Given the description of an element on the screen output the (x, y) to click on. 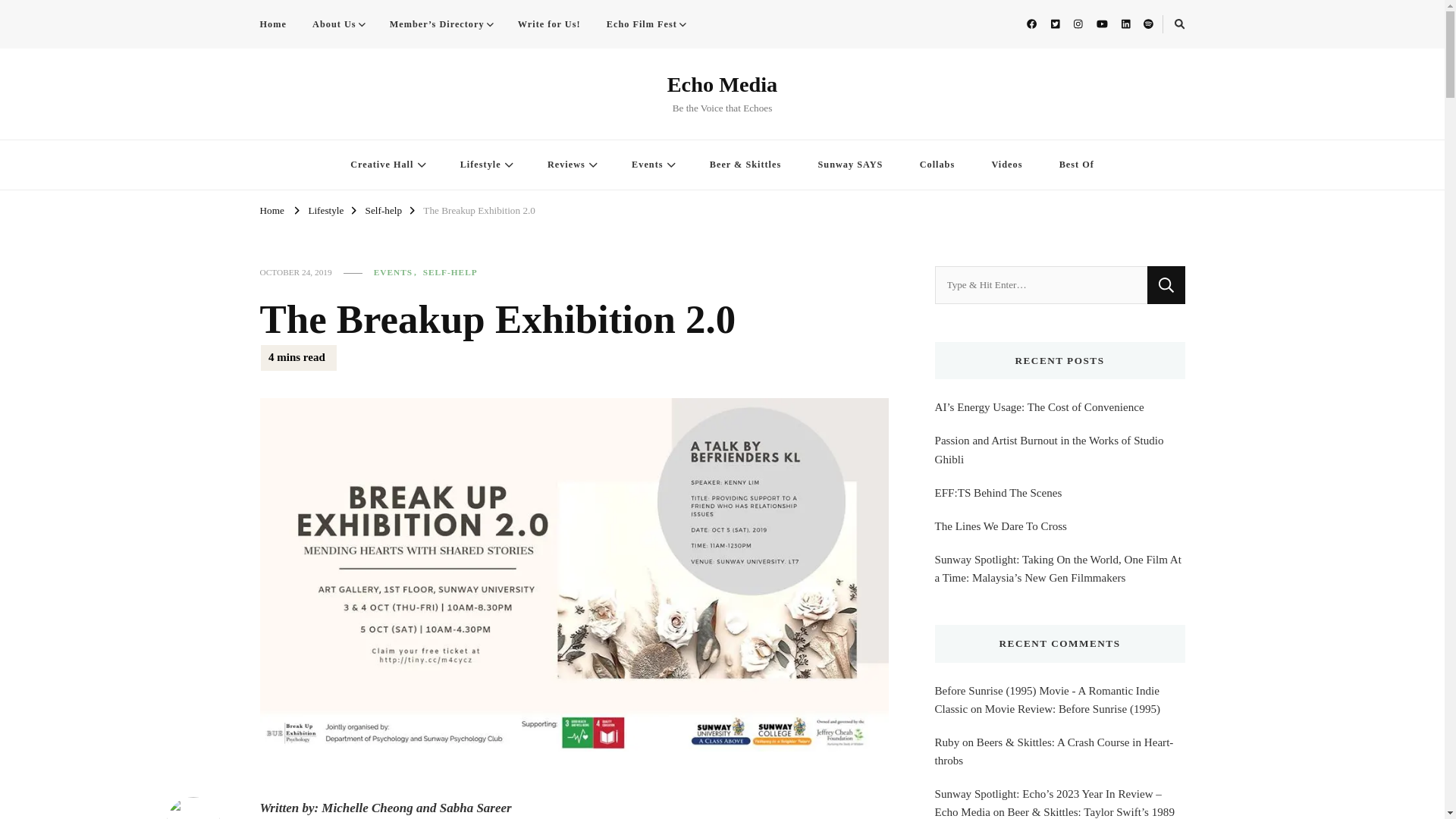
Search (1166, 284)
Search (1166, 284)
About Us (337, 24)
Echo Film Fest (645, 24)
Home (278, 24)
Echo Media (721, 84)
Write for Us! (549, 24)
Search (1155, 26)
